Given the description of an element on the screen output the (x, y) to click on. 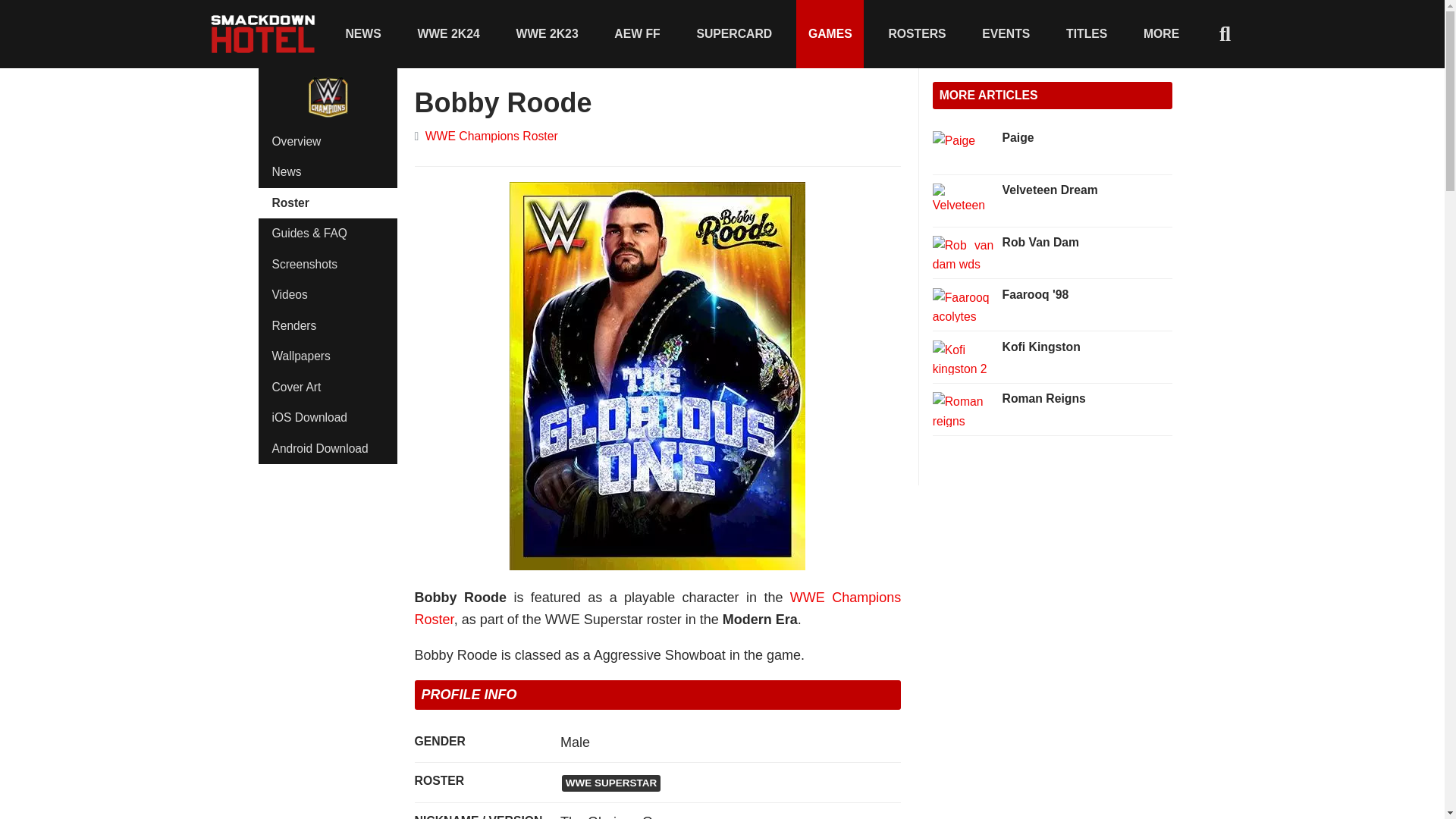
The SmackDown Hotel (263, 33)
WWE 2K24 (449, 33)
The SmackDown Hotel (263, 33)
WWE 2K23 (547, 33)
